Given the description of an element on the screen output the (x, y) to click on. 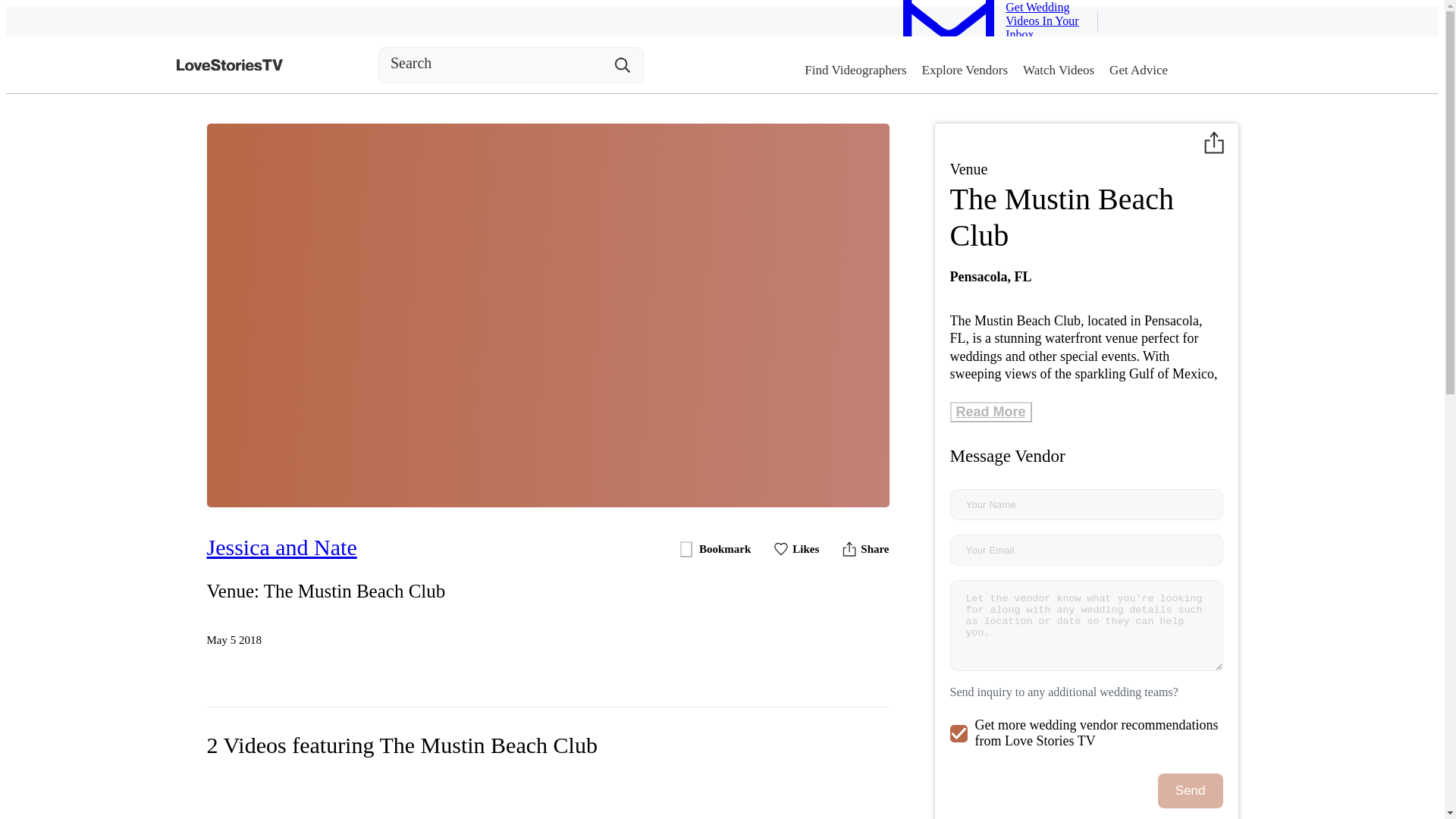
Find Videographers (855, 69)
Jessica and Nate (325, 547)
Get Advice (1138, 69)
Watch Videos (1058, 69)
Get Wedding Videos In Your Inbox (1000, 38)
Explore Vendors (964, 69)
